Given the description of an element on the screen output the (x, y) to click on. 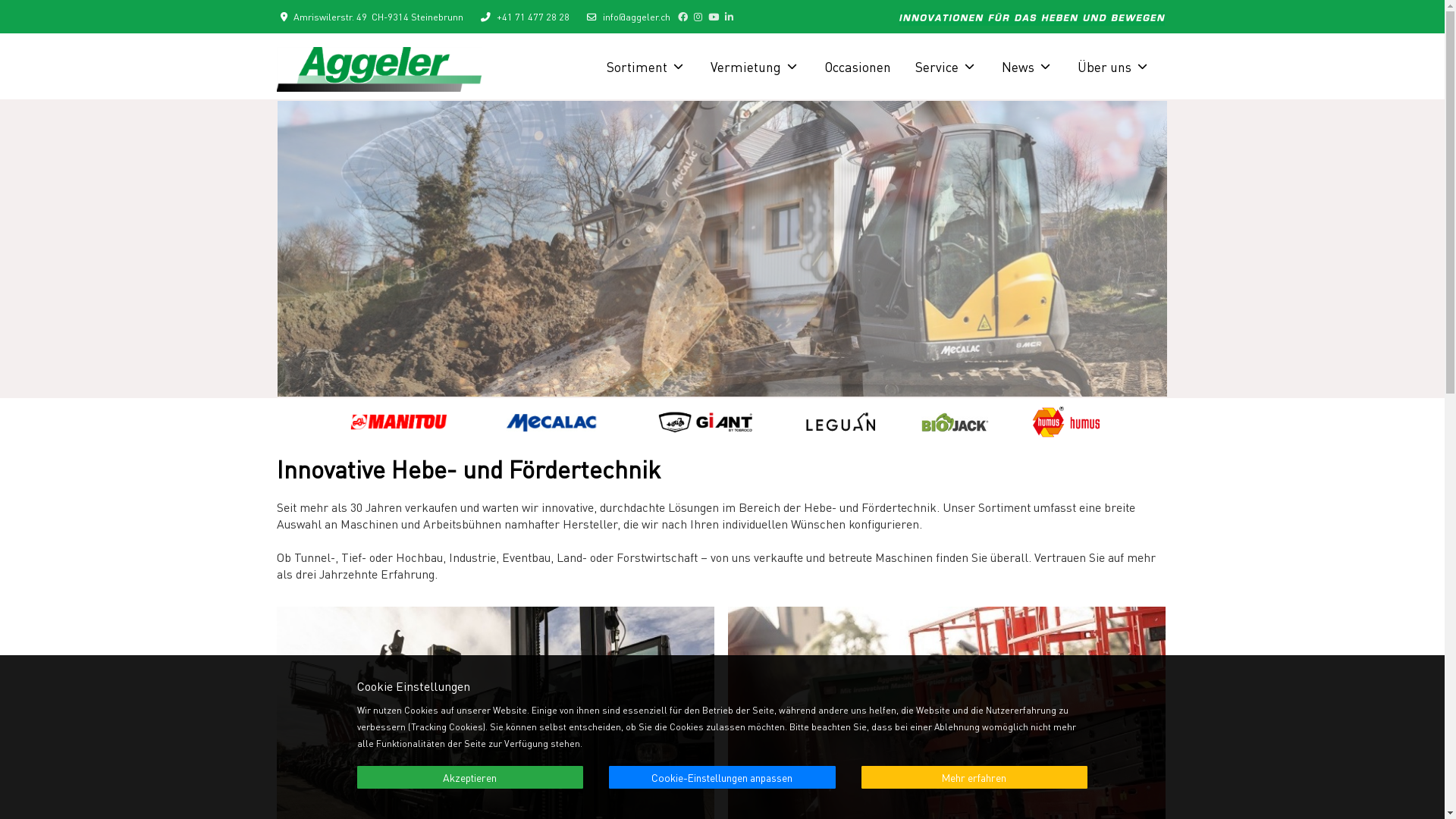
Cookie-Einstellungen anpassen Element type: text (721, 778)
Occasionen Element type: text (856, 66)
News Element type: text (1026, 66)
Mehr erfahren Element type: text (974, 776)
Mehr erfahren Element type: text (974, 778)
YouTube Element type: hover (713, 16)
Facebook Element type: hover (682, 16)
+41 71 477 28 28 Element type: text (531, 16)
Service Element type: text (945, 66)
Akzeptieren Element type: text (469, 778)
Cookie-Einstellungen anpassen Element type: text (721, 776)
Vermietung Element type: text (754, 66)
LinkedIn Element type: hover (728, 16)
Akzeptieren Element type: text (469, 776)
info@aggeler.ch Element type: text (635, 16)
Instagram Element type: hover (697, 16)
Sortiment Element type: text (646, 66)
